Given the description of an element on the screen output the (x, y) to click on. 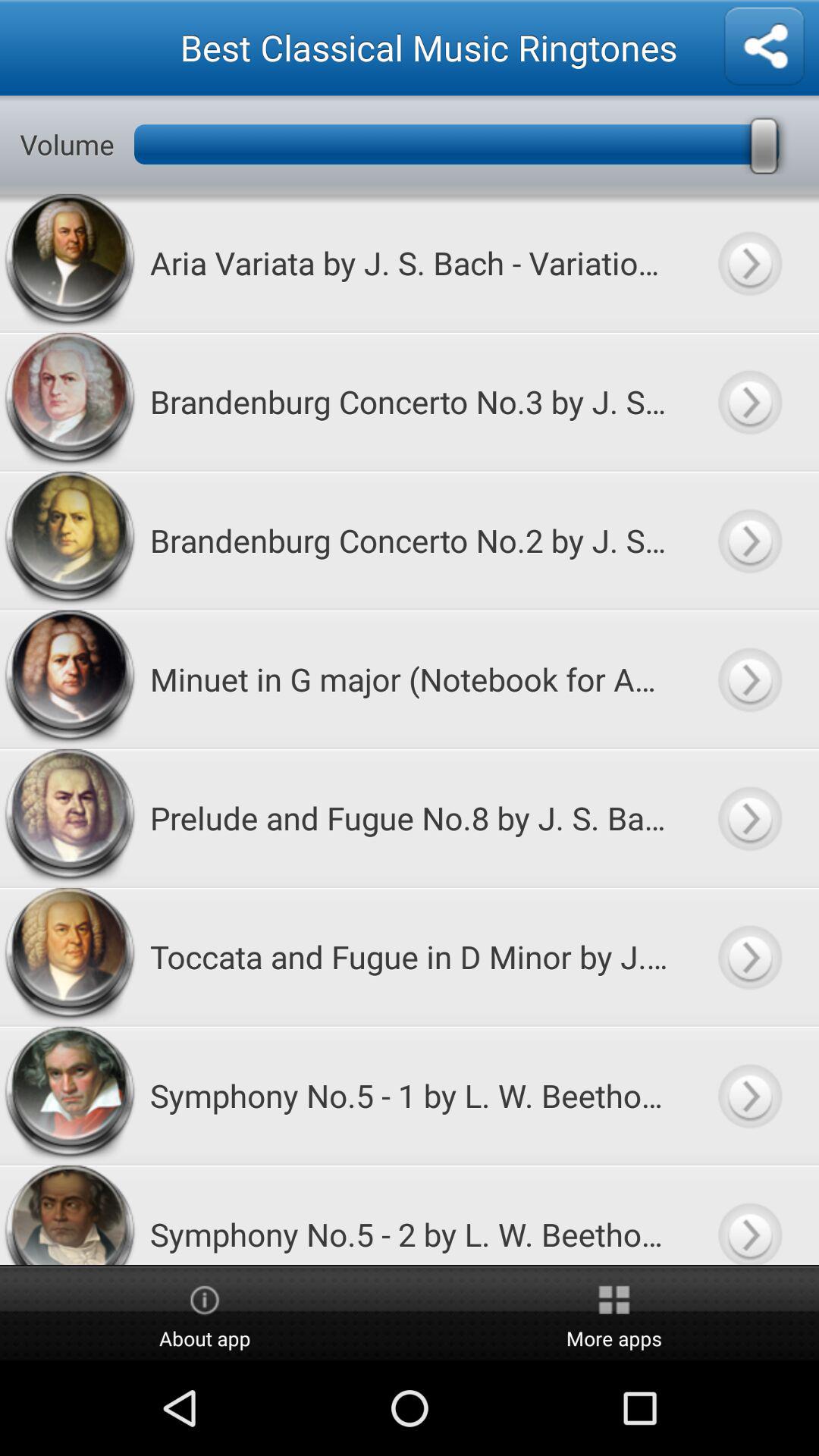
play song (749, 1095)
